Given the description of an element on the screen output the (x, y) to click on. 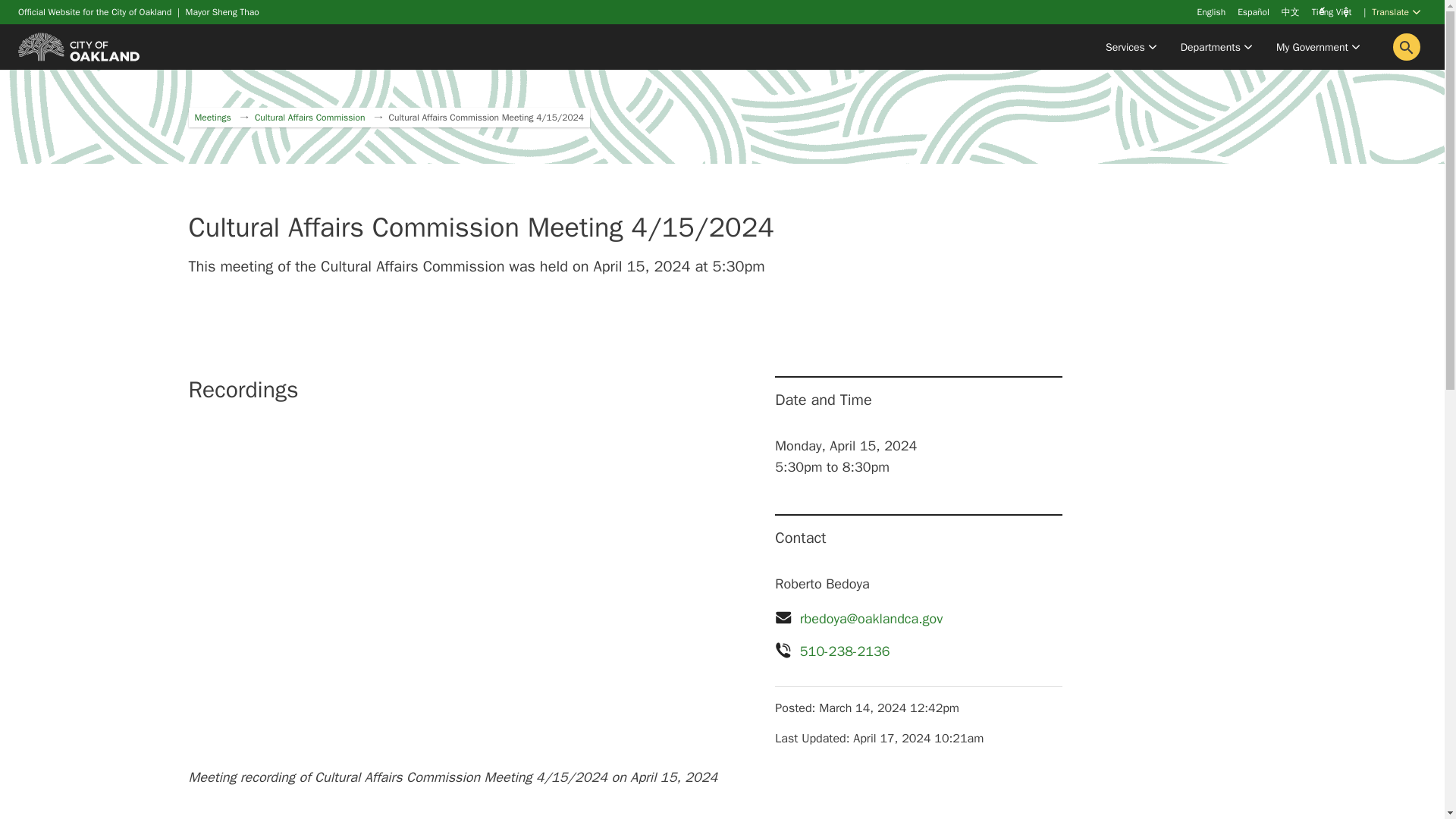
English (1210, 11)
Home (78, 46)
Mayor Sheng Thao (222, 11)
Translate (1395, 13)
Departments (1216, 46)
Services (1131, 46)
